Given the description of an element on the screen output the (x, y) to click on. 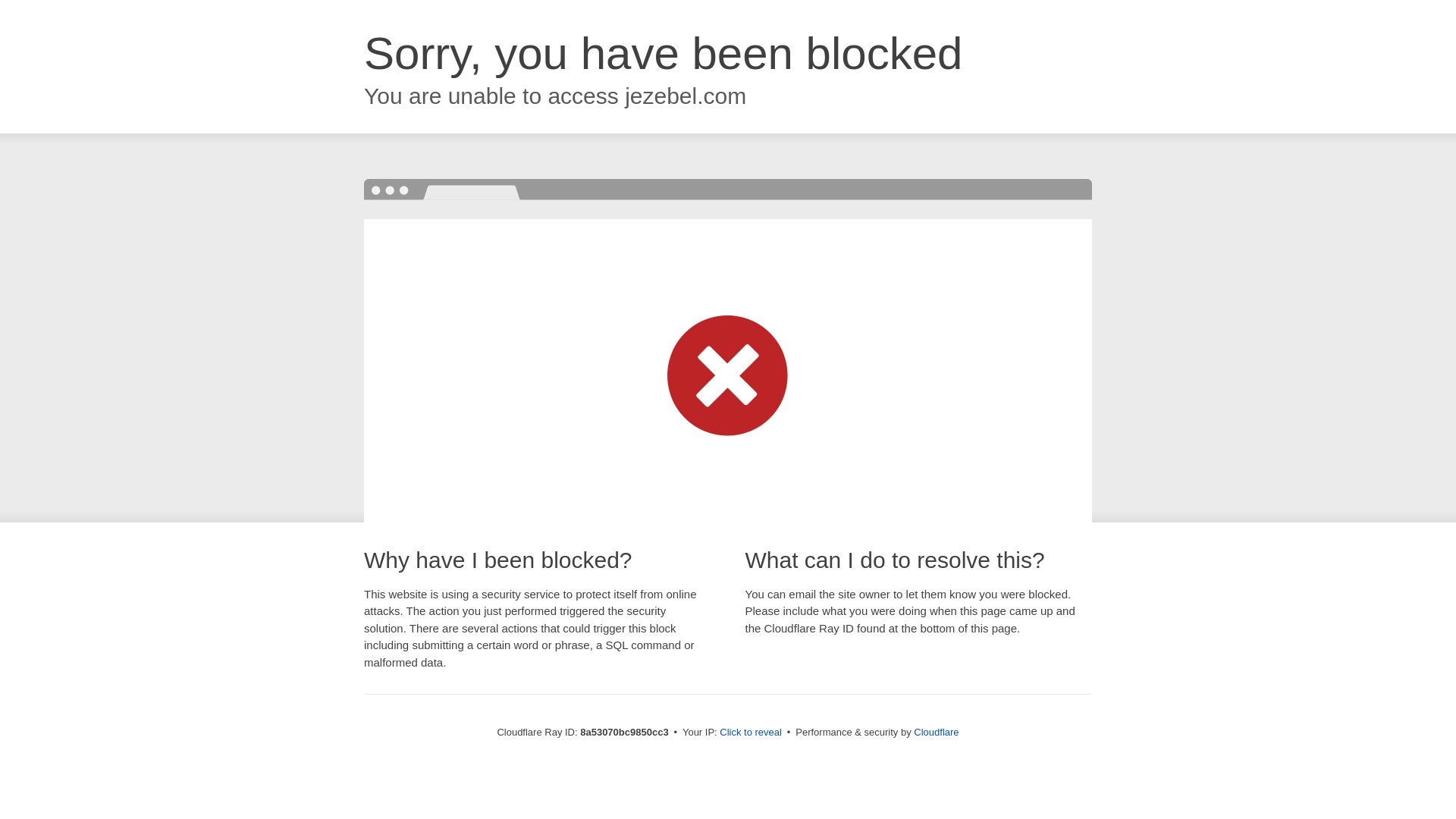
Click to reveal (750, 732)
Cloudflare (936, 731)
